Given the description of an element on the screen output the (x, y) to click on. 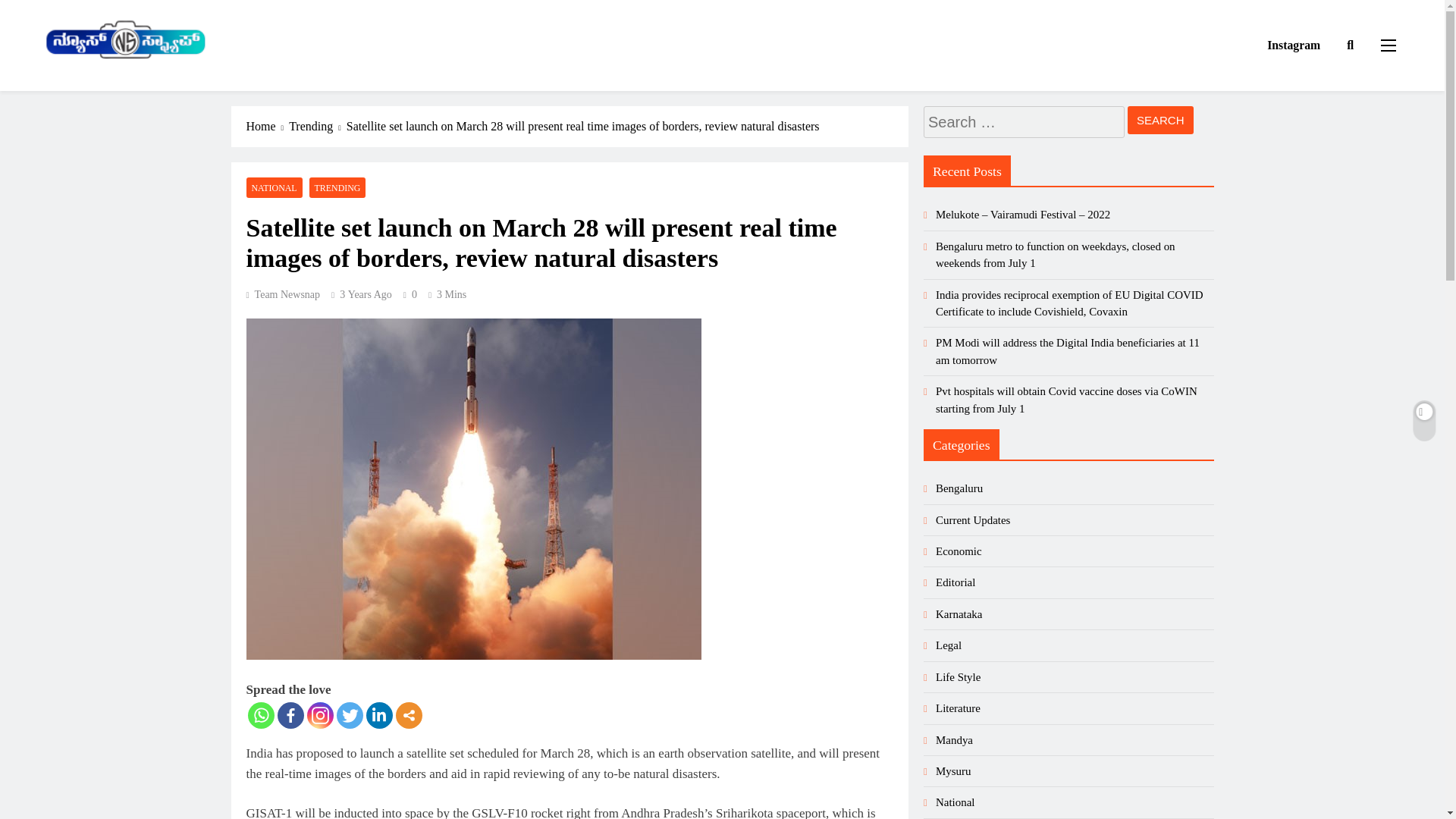
Search (1159, 120)
Bengaluru (959, 488)
Team Newsnap (283, 294)
More (409, 714)
Search (1159, 120)
Linkedin (378, 714)
Twitter (349, 714)
Instagram (319, 714)
